Given the description of an element on the screen output the (x, y) to click on. 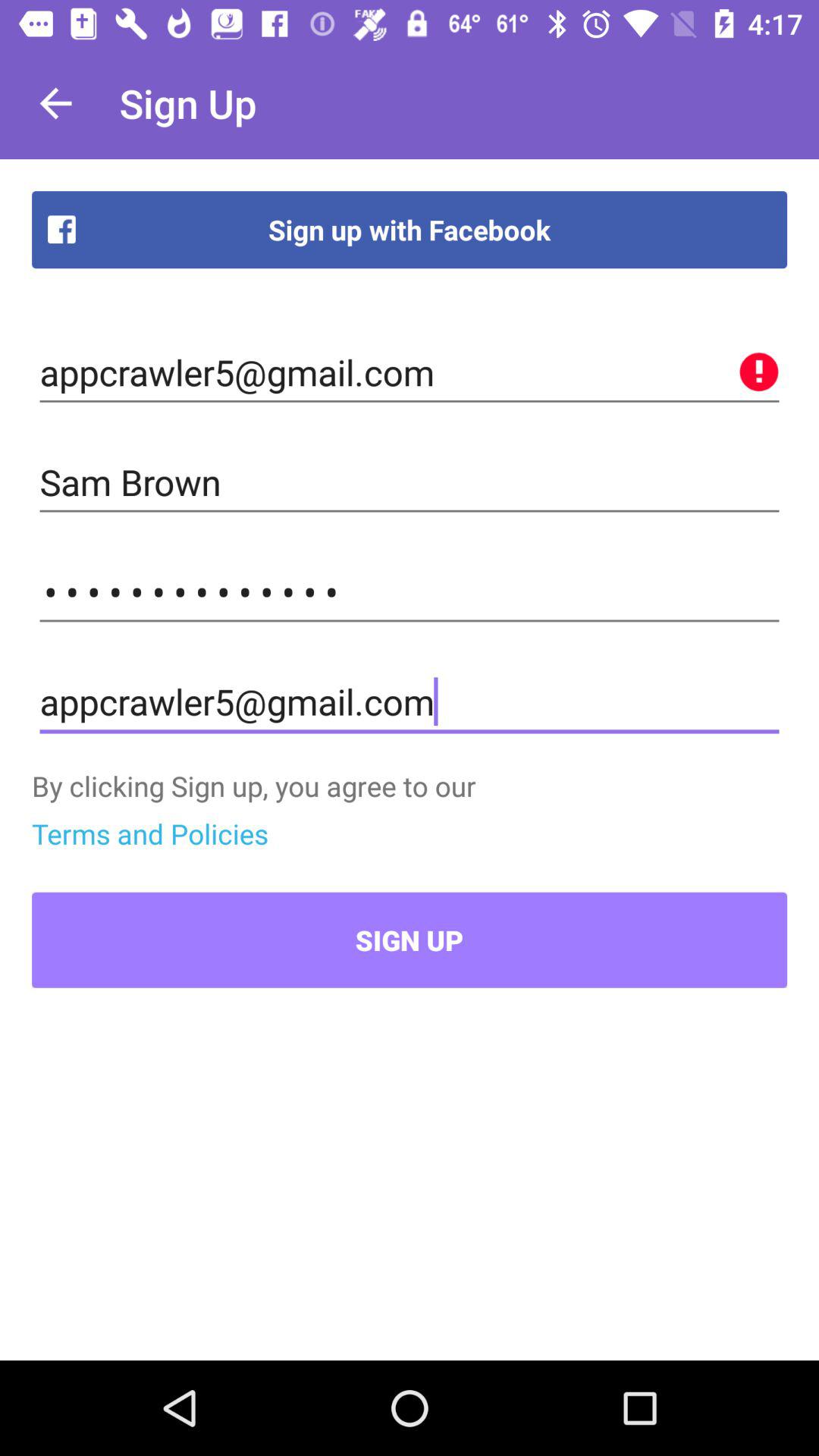
flip until the terms and policies icon (149, 833)
